Given the description of an element on the screen output the (x, y) to click on. 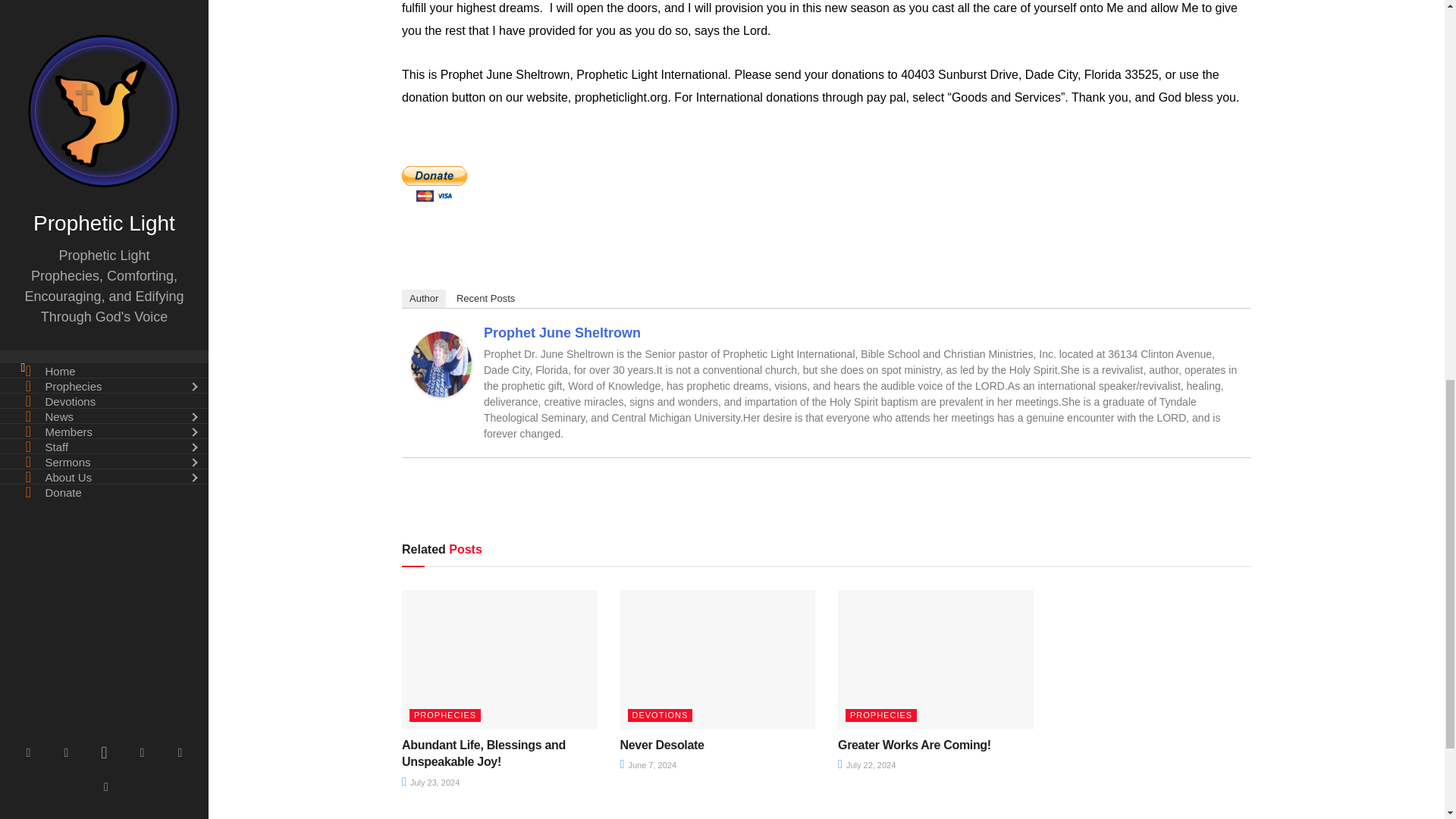
Prophet June Sheltrown (440, 363)
